Given the description of an element on the screen output the (x, y) to click on. 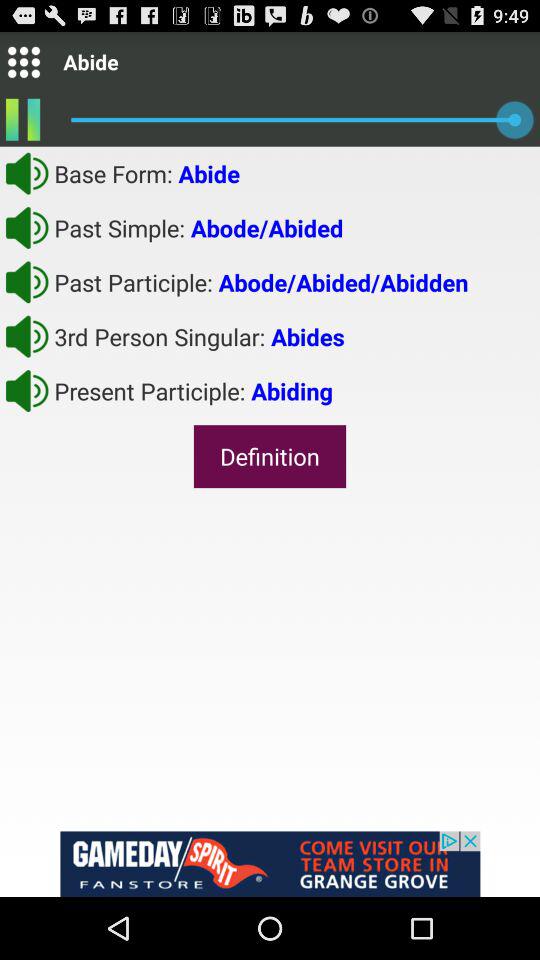
for audio (27, 390)
